Given the description of an element on the screen output the (x, y) to click on. 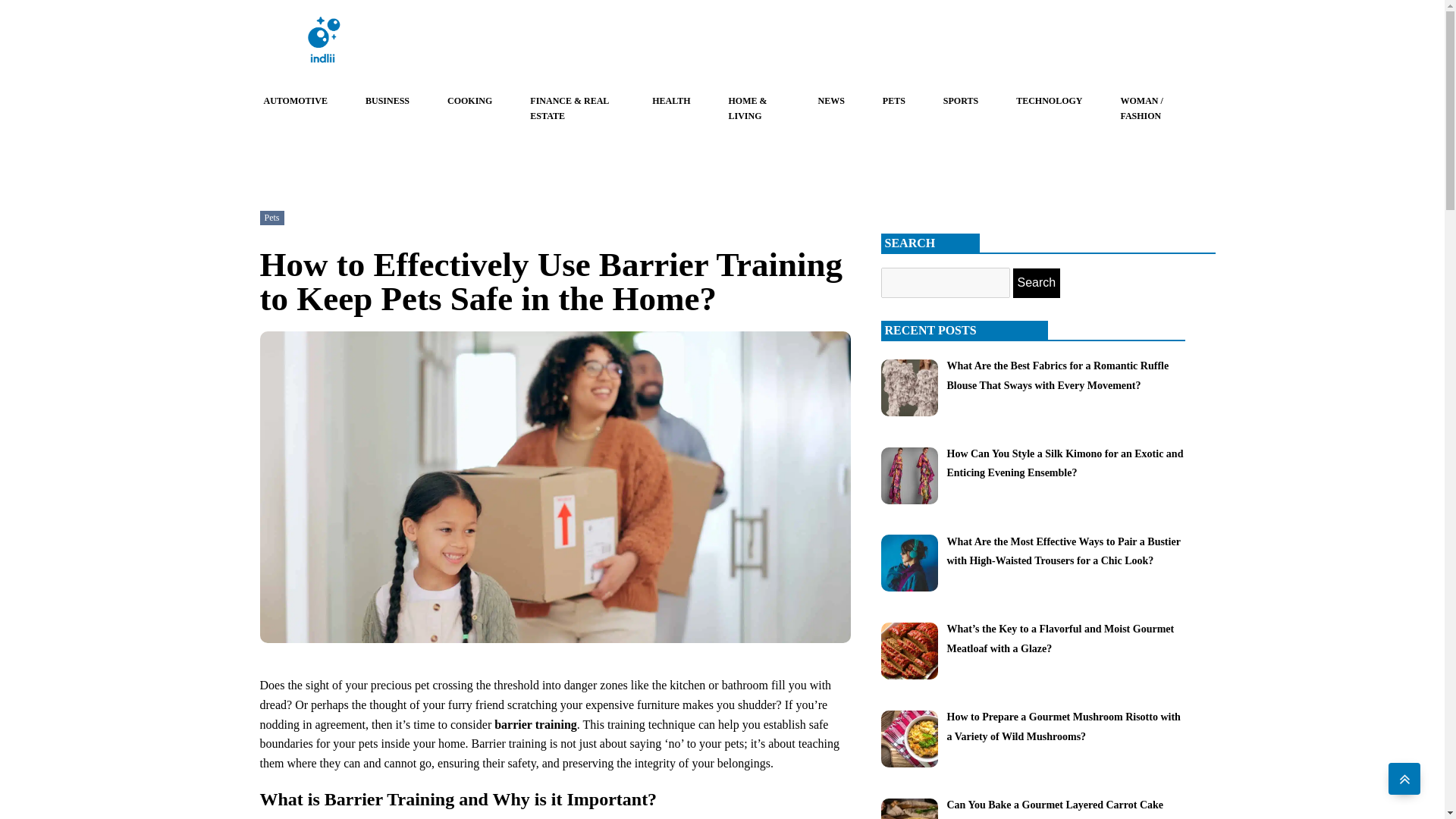
AUTOMOTIVE (295, 100)
Search (1037, 282)
SPORTS (960, 100)
NEWS (831, 100)
BUSINESS (387, 100)
PETS (893, 100)
Pets (271, 217)
Search (1037, 282)
TECHNOLOGY (1048, 100)
COOKING (469, 100)
